Given the description of an element on the screen output the (x, y) to click on. 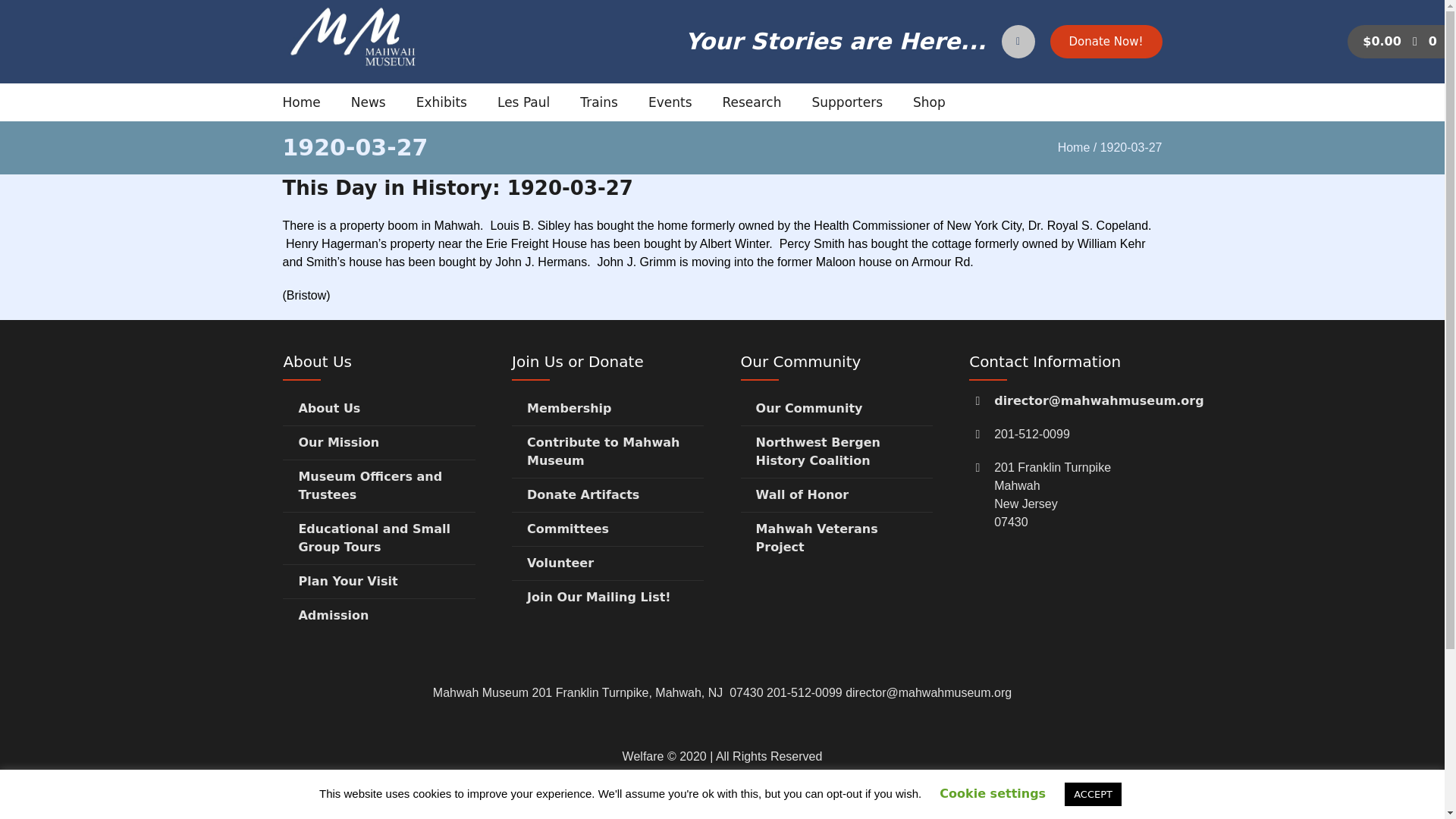
Exhibits (441, 102)
Research (751, 102)
Twitter (702, 629)
News (367, 102)
Mahwah Museum (721, 489)
Events (670, 102)
Home (301, 102)
Donate Now! (1105, 41)
Trains (598, 102)
Facebook (750, 629)
Les Paul (523, 102)
